Given the description of an element on the screen output the (x, y) to click on. 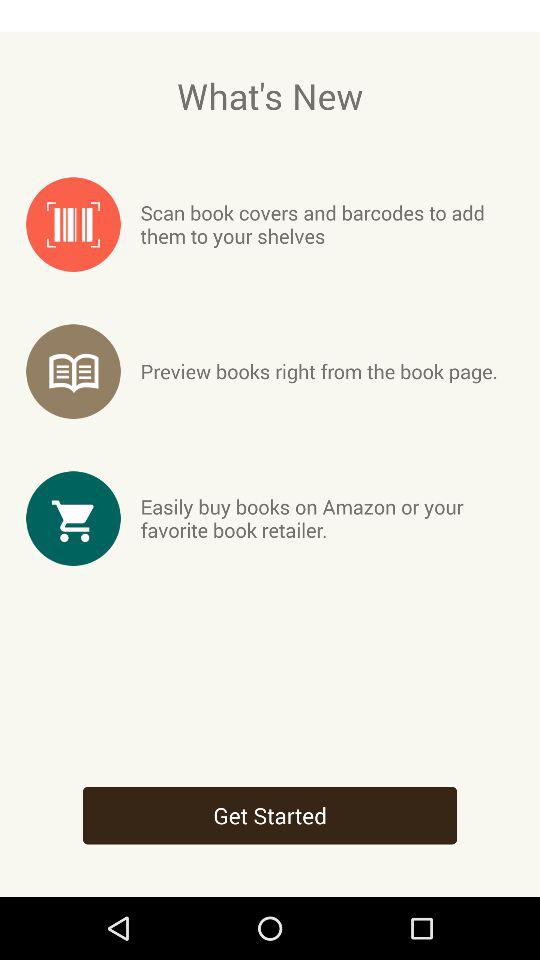
turn on item above the easily buy books item (318, 371)
